Given the description of an element on the screen output the (x, y) to click on. 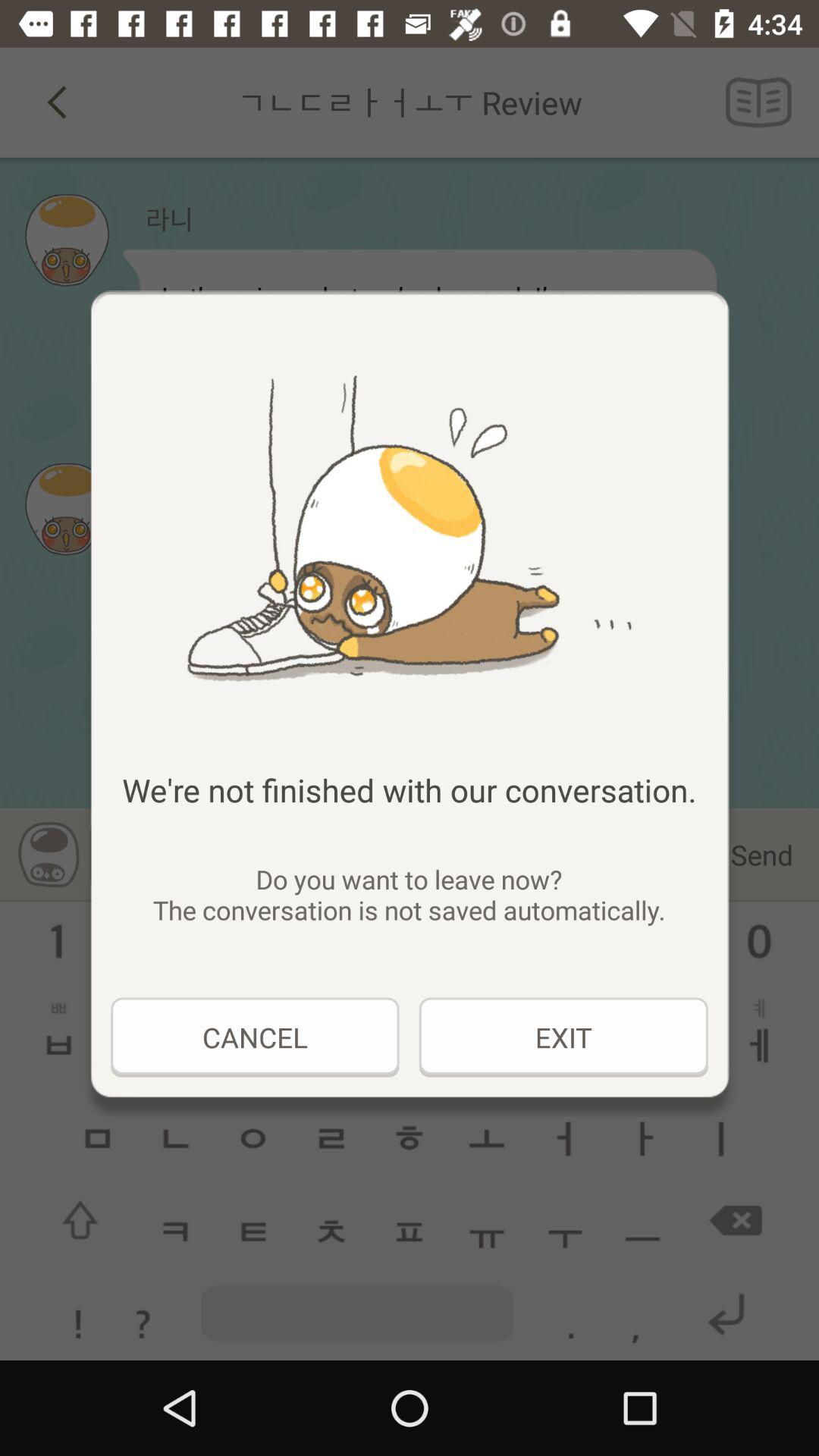
click icon below the do you want item (563, 1037)
